Given the description of an element on the screen output the (x, y) to click on. 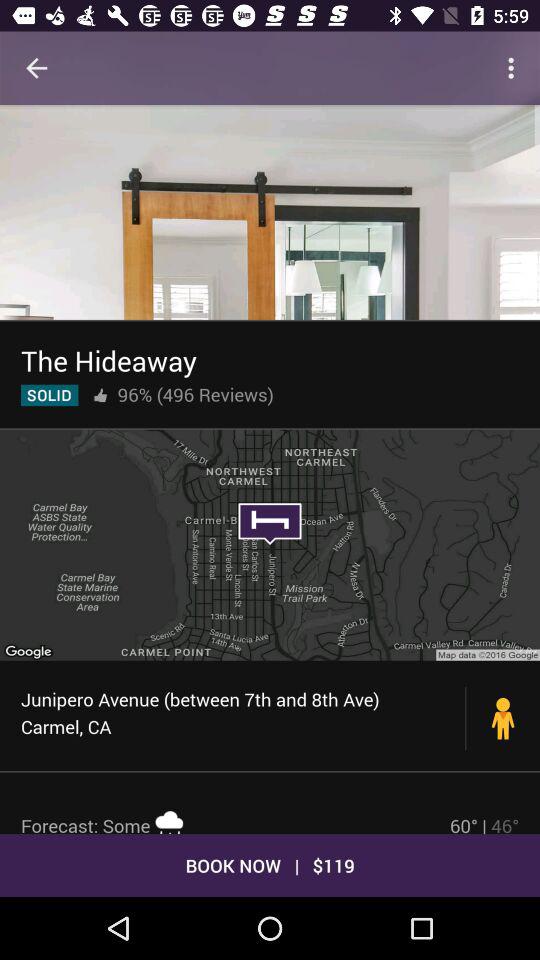
launch the hideaway icon (108, 360)
